Given the description of an element on the screen output the (x, y) to click on. 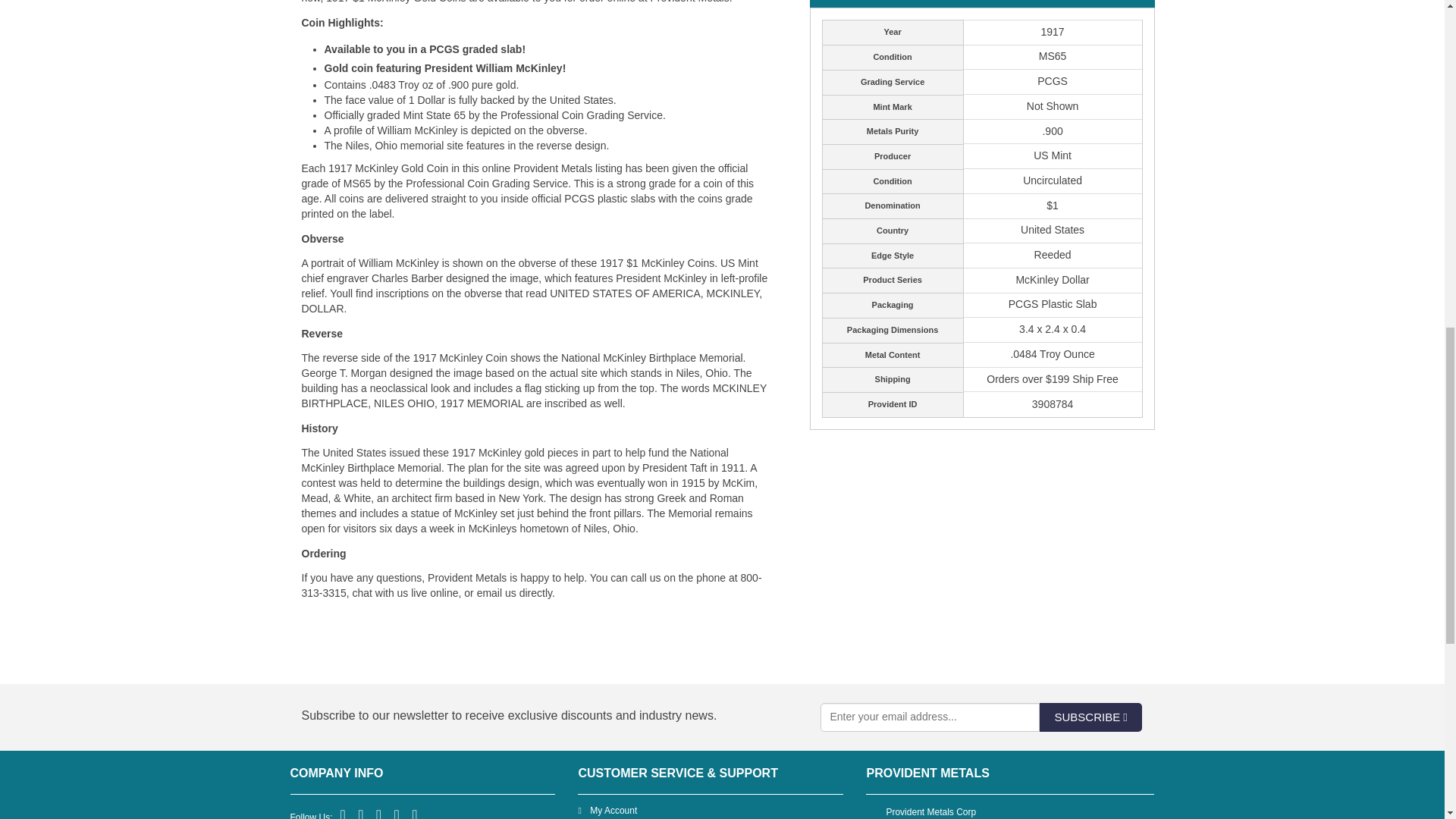
You Tube (397, 814)
Twitter (361, 814)
Facebook (344, 814)
Pinterest (379, 814)
Instagram (415, 814)
